Given the description of an element on the screen output the (x, y) to click on. 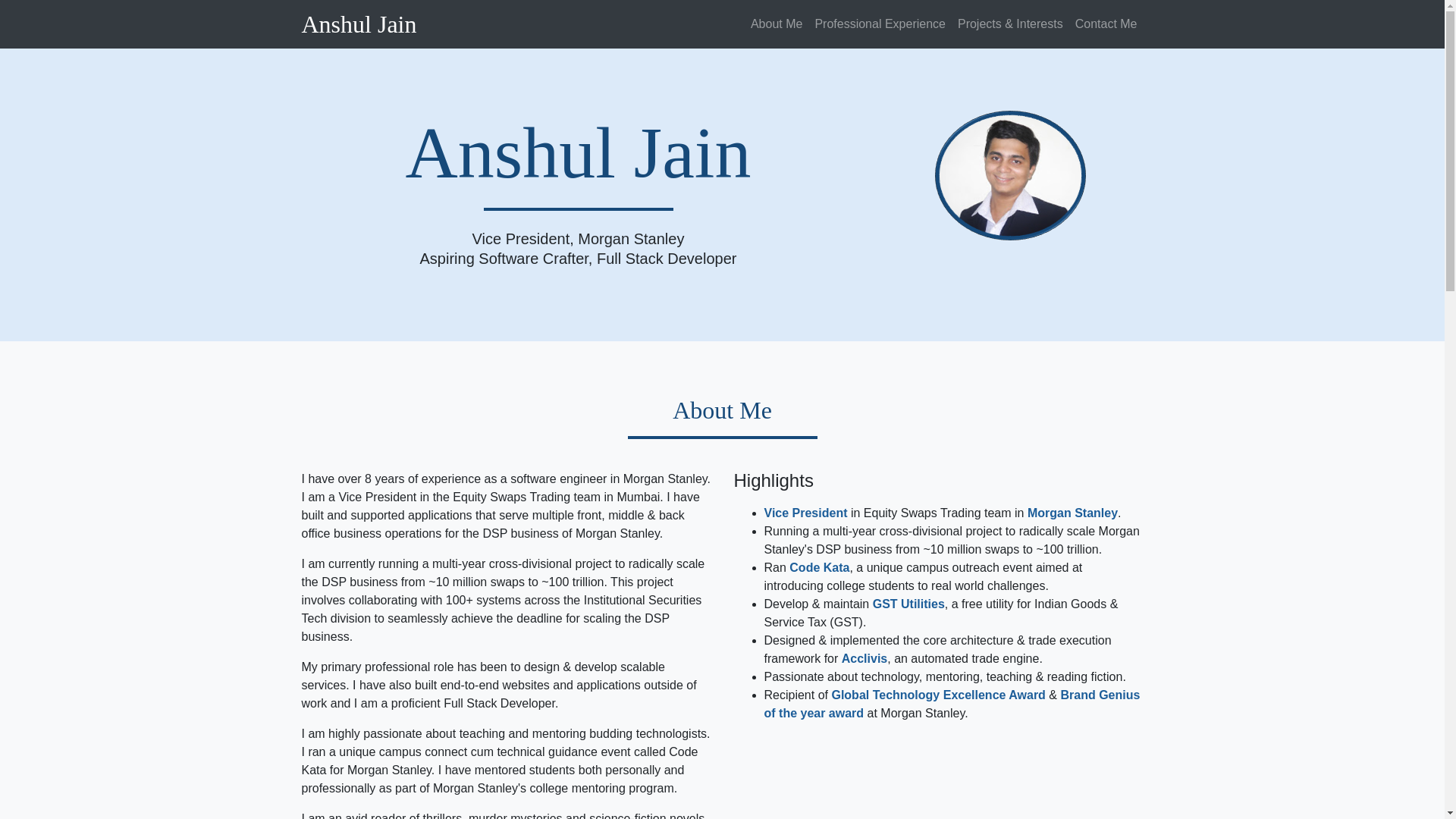
GST Utilities (908, 603)
Contact Me (1105, 24)
About Me (776, 24)
Professional Experience (880, 24)
Anshul Jain (358, 23)
